Given the description of an element on the screen output the (x, y) to click on. 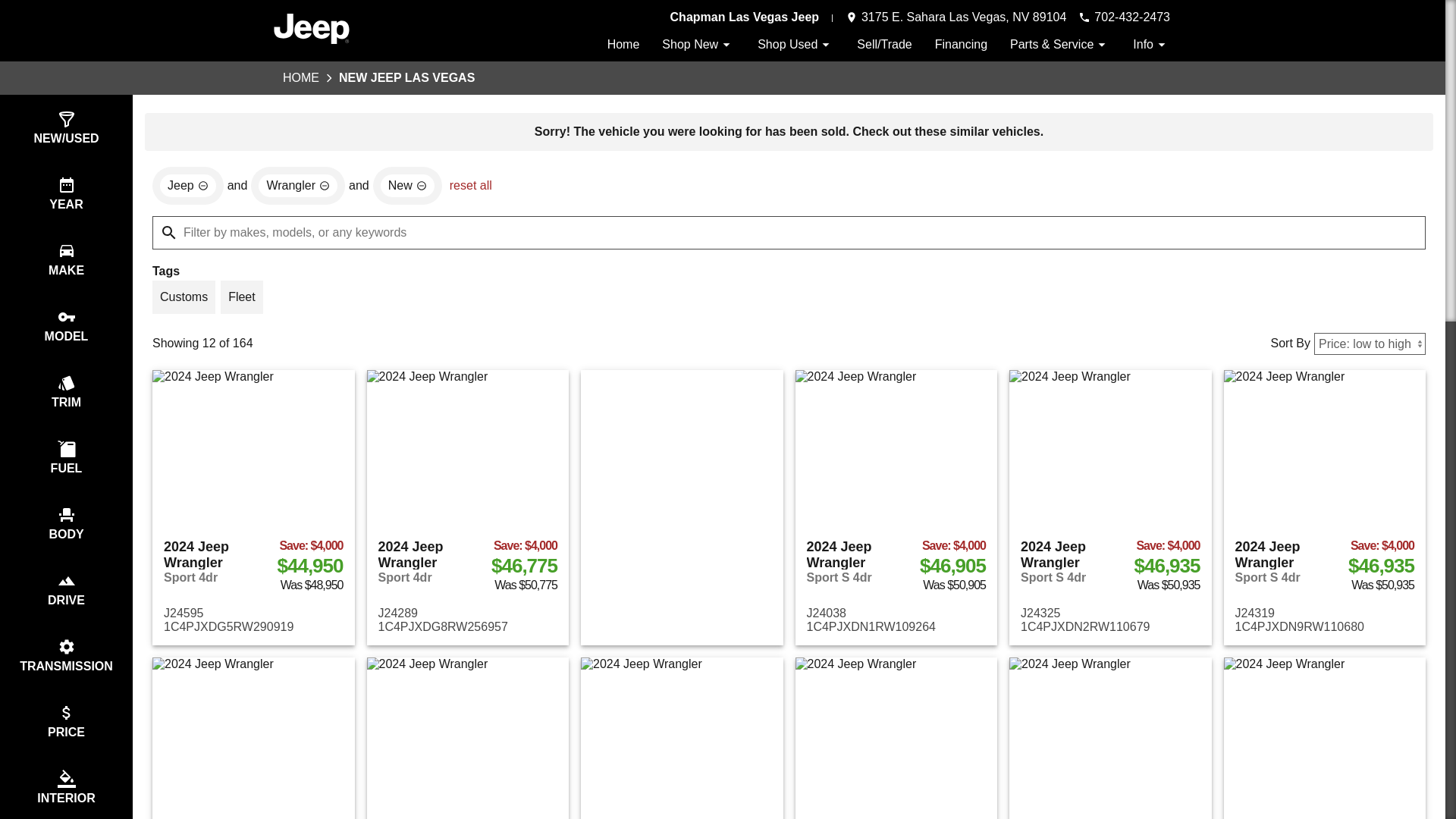
702-432-2473 (1124, 16)
Chapman Las Vegas Jeep (744, 16)
3175 E. Sahara Las Vegas, NV 89104 (955, 16)
Shop Used (795, 44)
Home (623, 44)
Shop New (698, 44)
Financing (960, 44)
